Given the description of an element on the screen output the (x, y) to click on. 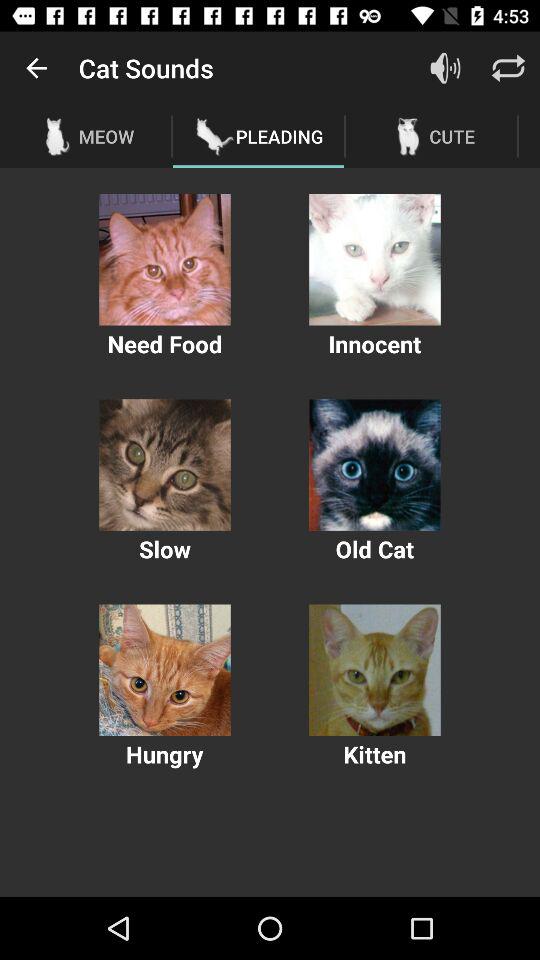
launch the icon next to the pleading item (444, 67)
